Given the description of an element on the screen output the (x, y) to click on. 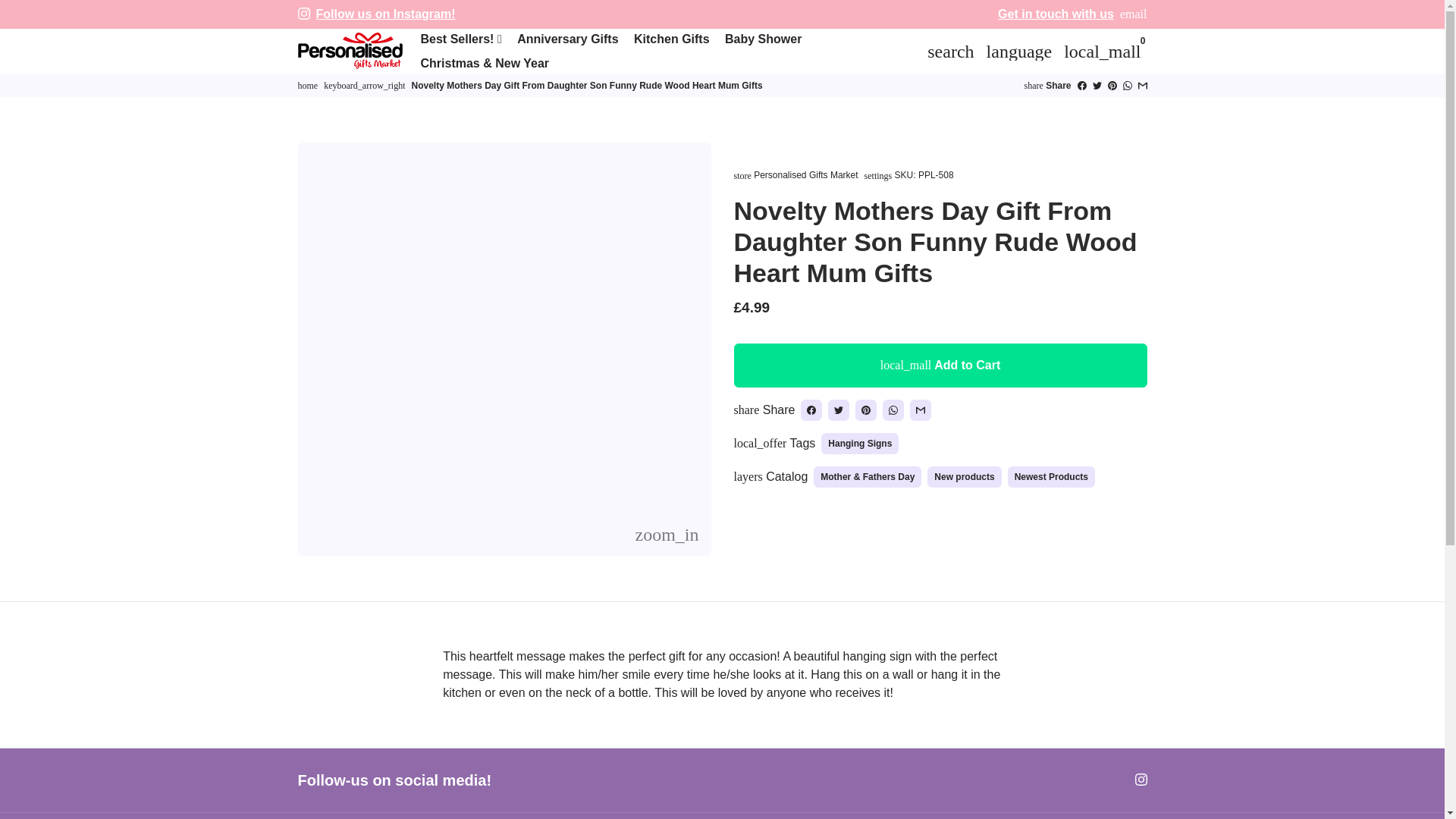
Get in touch with us (1055, 13)
Anniversary Gifts (567, 39)
Baby Shower (763, 39)
home (307, 85)
Follow us on Instagram! (384, 13)
Kitchen Gifts (671, 39)
Search (950, 51)
search (950, 51)
Personalised gifts market (307, 85)
Cart (1102, 51)
language (1018, 51)
Personalised Gifts Market on Instagram (302, 13)
email (1133, 13)
